Given the description of an element on the screen output the (x, y) to click on. 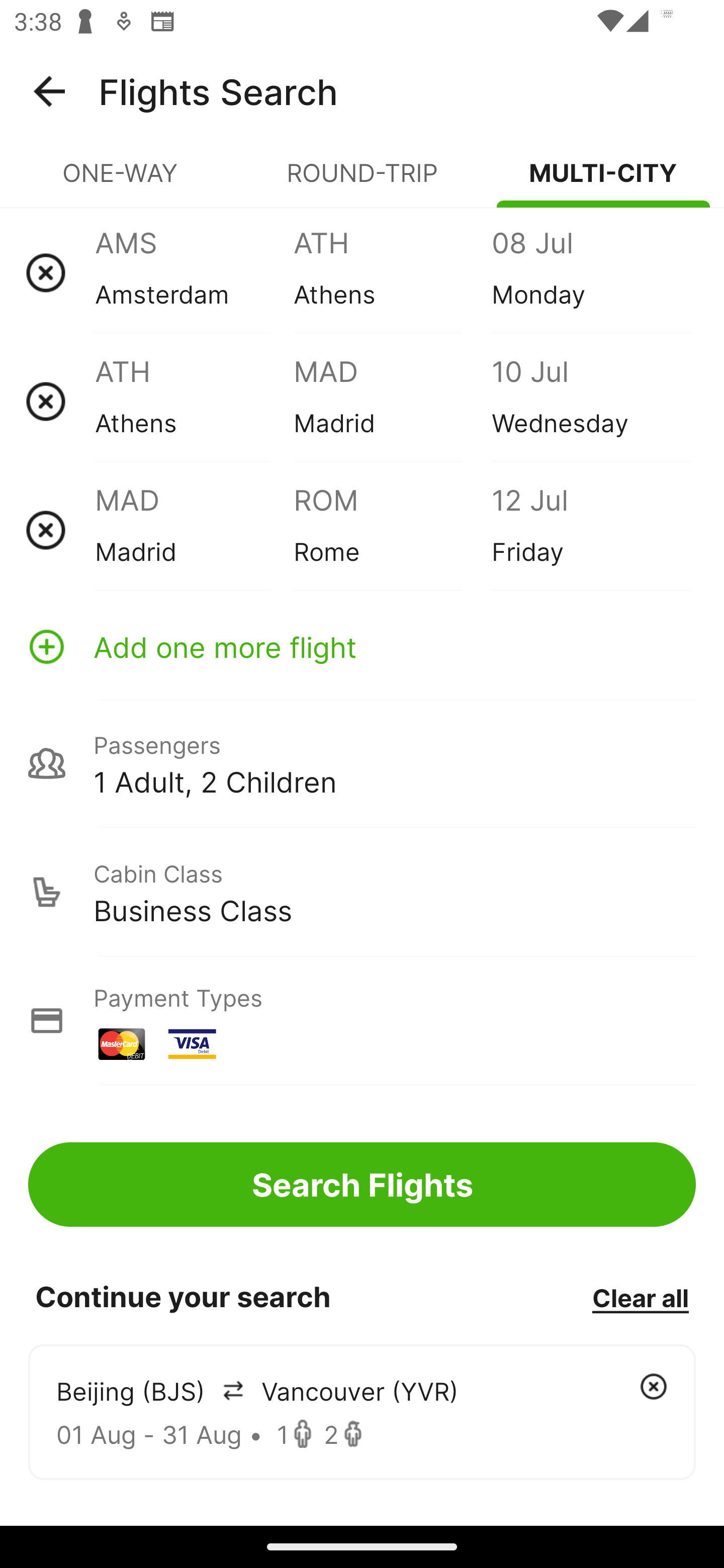
ONE-WAY (120, 180)
ROUND-TRIP (361, 180)
MULTI-CITY (603, 180)
AMS Amsterdam (193, 272)
ATH Athens (392, 272)
08 Jul Monday (590, 272)
ATH Athens (193, 401)
MAD Madrid (392, 401)
10 Jul Wednesday (590, 401)
MAD Madrid (193, 529)
ROM Rome (392, 529)
12 Jul Friday (590, 529)
Add one more flight (362, 646)
Passengers 1 Adult, 2 Children (362, 762)
Cabin Class Business Class (362, 891)
Payment Types (362, 1020)
Search Flights (361, 1184)
Clear all (640, 1297)
